Given the description of an element on the screen output the (x, y) to click on. 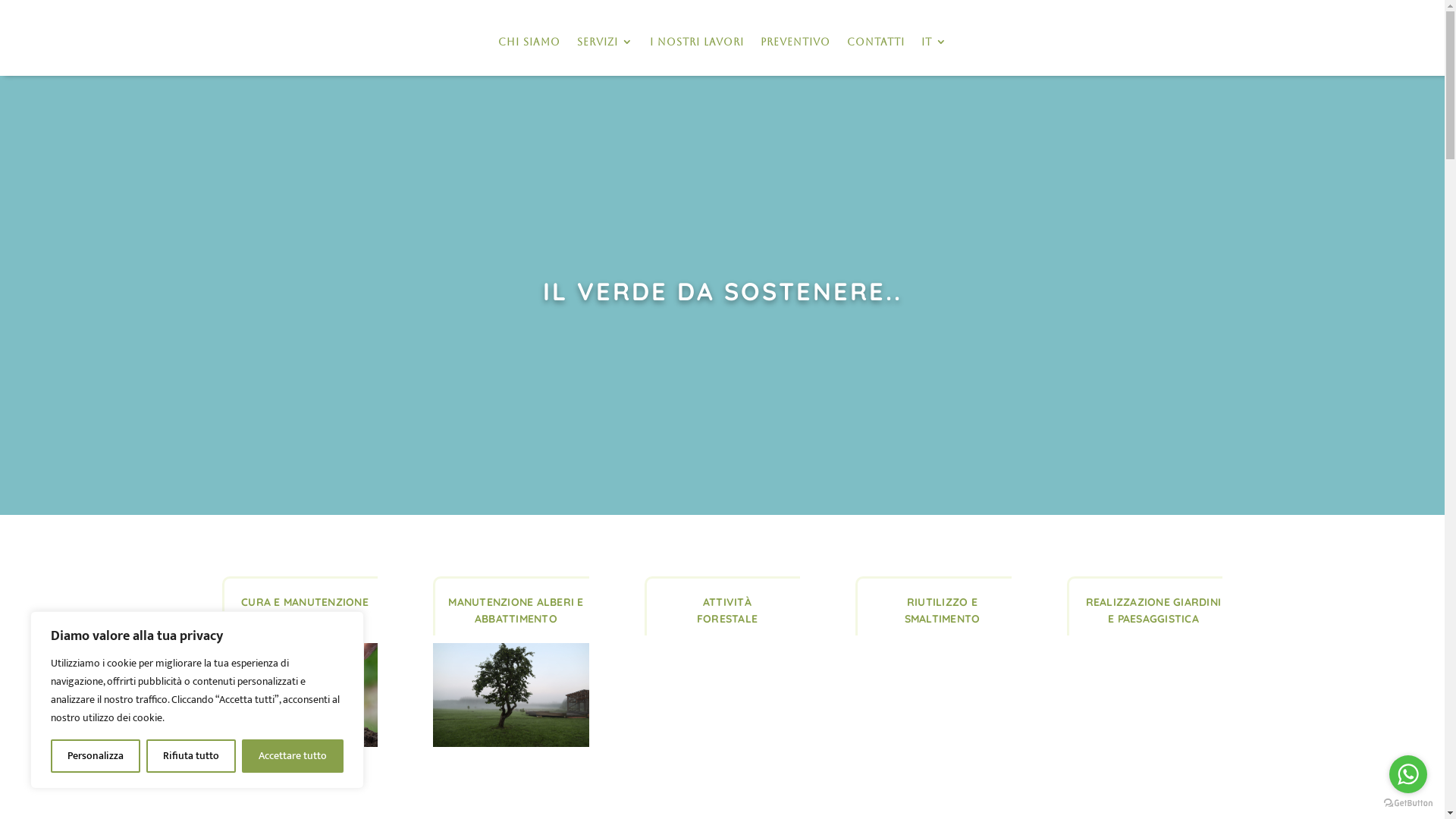
Accettare tutto Element type: text (292, 755)
SERVIZI Element type: text (604, 41)
CONTATTI Element type: text (874, 41)
CHI SIAMO Element type: text (528, 41)
I NOSTRI LAVORI Element type: text (696, 41)
Personalizza Element type: text (95, 755)
PREVENTIVO Element type: text (794, 41)
Rifiuta tutto Element type: text (190, 755)
IT Element type: text (933, 41)
close up picture of hand watering the sapling of the plant Element type: hover (299, 694)
